Given the description of an element on the screen output the (x, y) to click on. 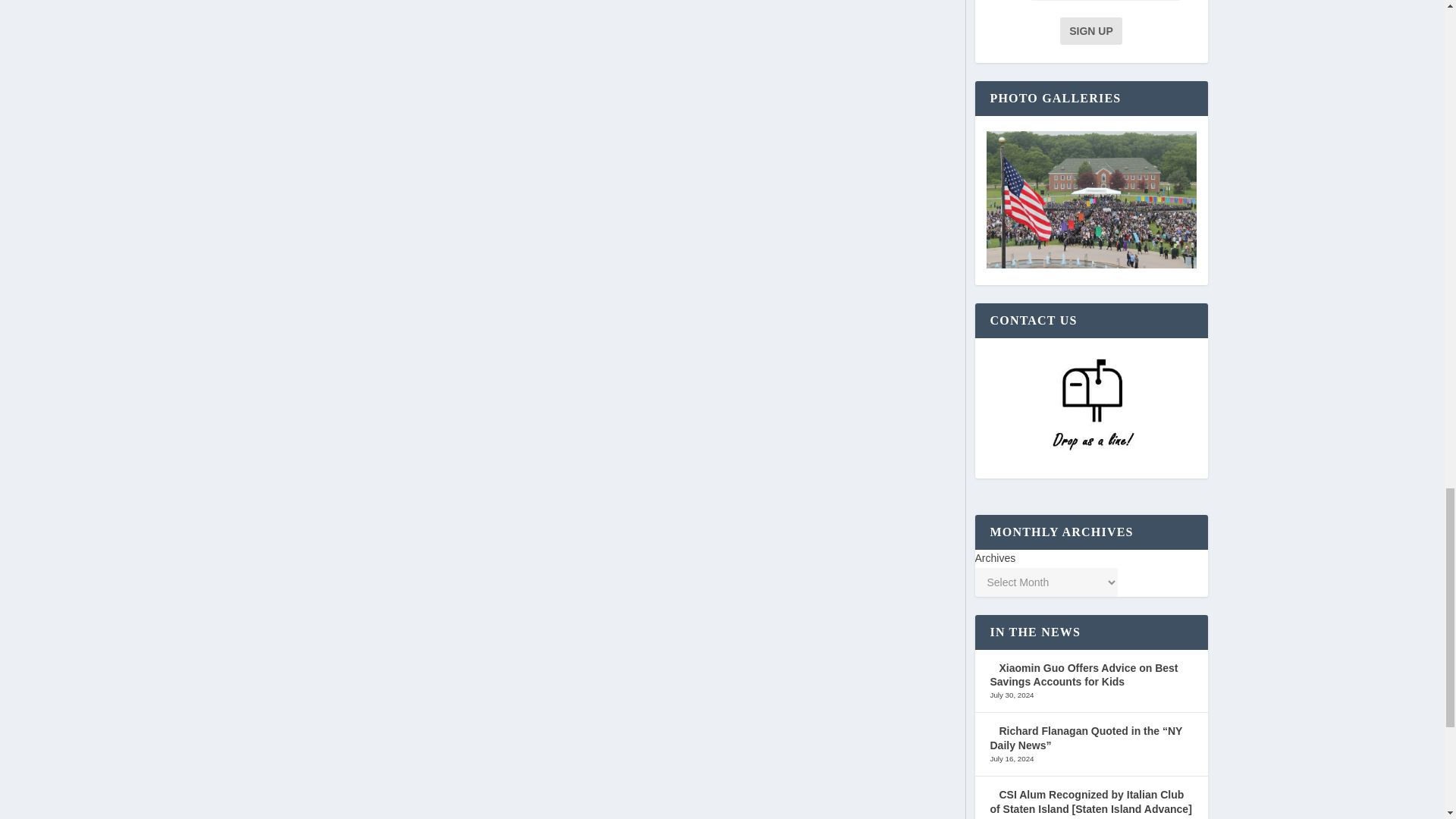
Sign up (1090, 31)
